Given the description of an element on the screen output the (x, y) to click on. 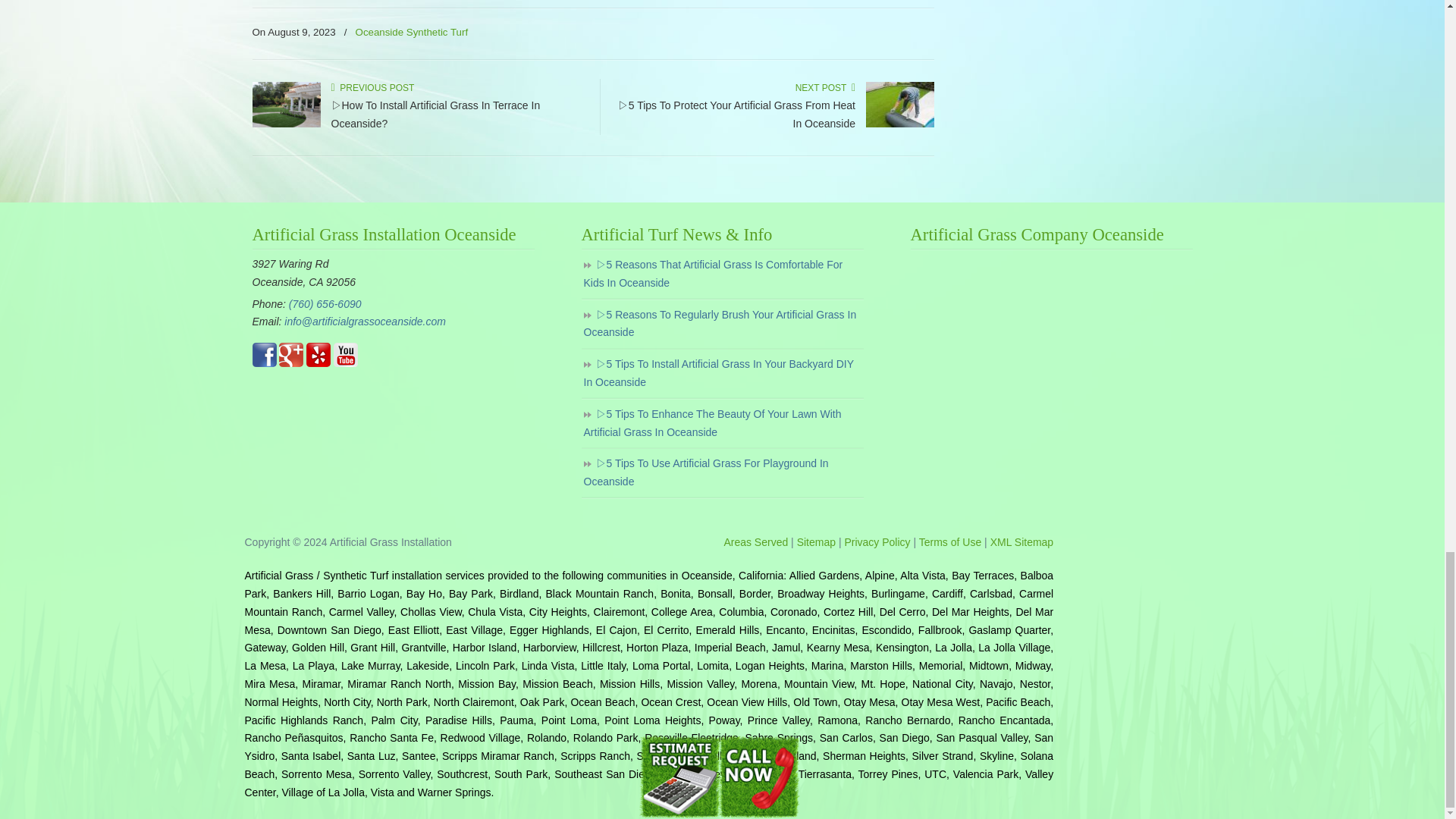
Go to previous post (371, 87)
Phone (324, 304)
Oceanside Synthetic Turf (411, 32)
 PREVIOUS POST (371, 87)
Go to next post (825, 87)
Facebook (263, 363)
NEXT POST   (825, 87)
Yelp (317, 363)
